Given the description of an element on the screen output the (x, y) to click on. 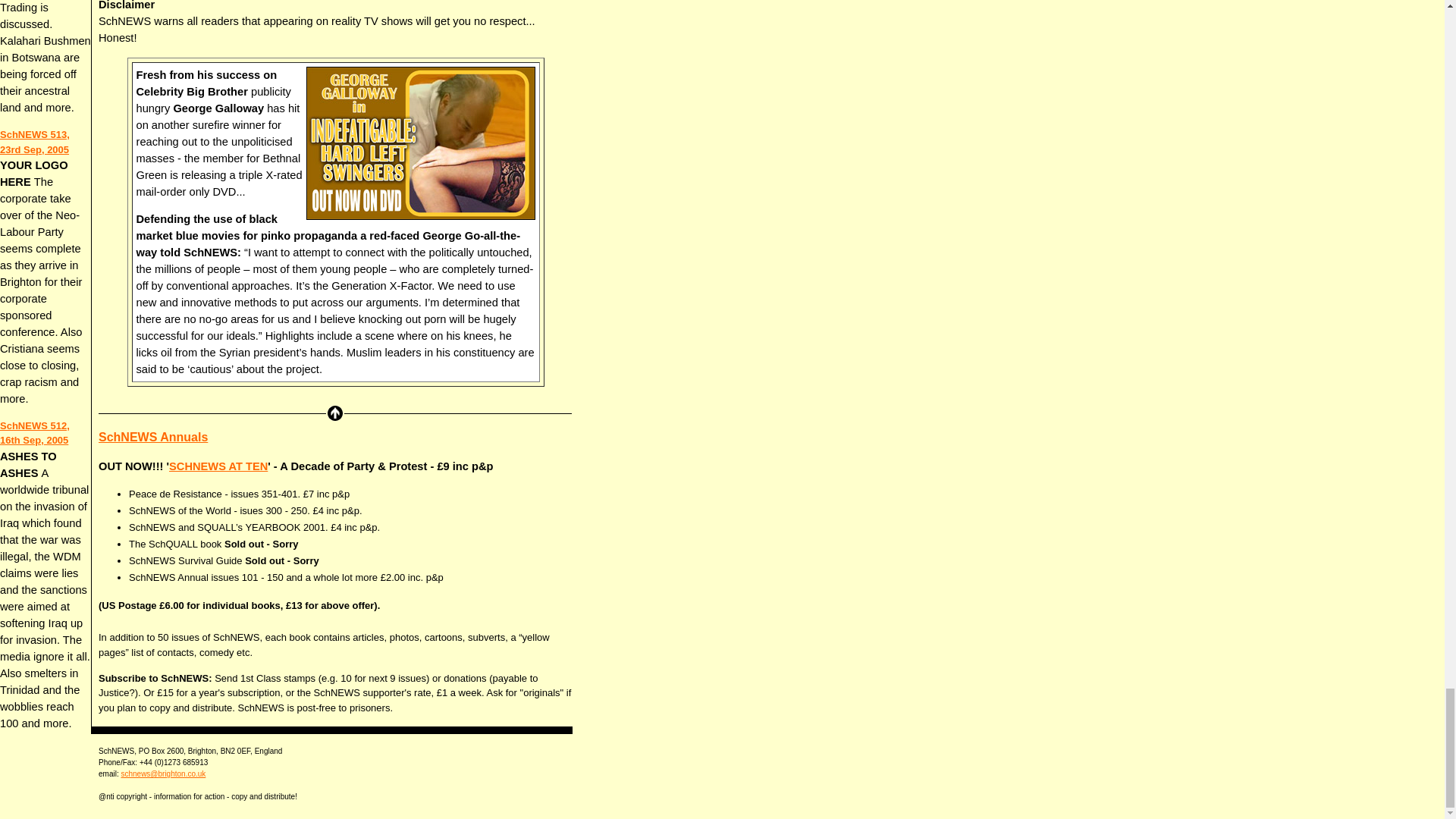
SchNEWS 512, 16th Sep, 2005 (34, 433)
SchNEWS 513, 23rd Sep, 2005 (34, 141)
